Given the description of an element on the screen output the (x, y) to click on. 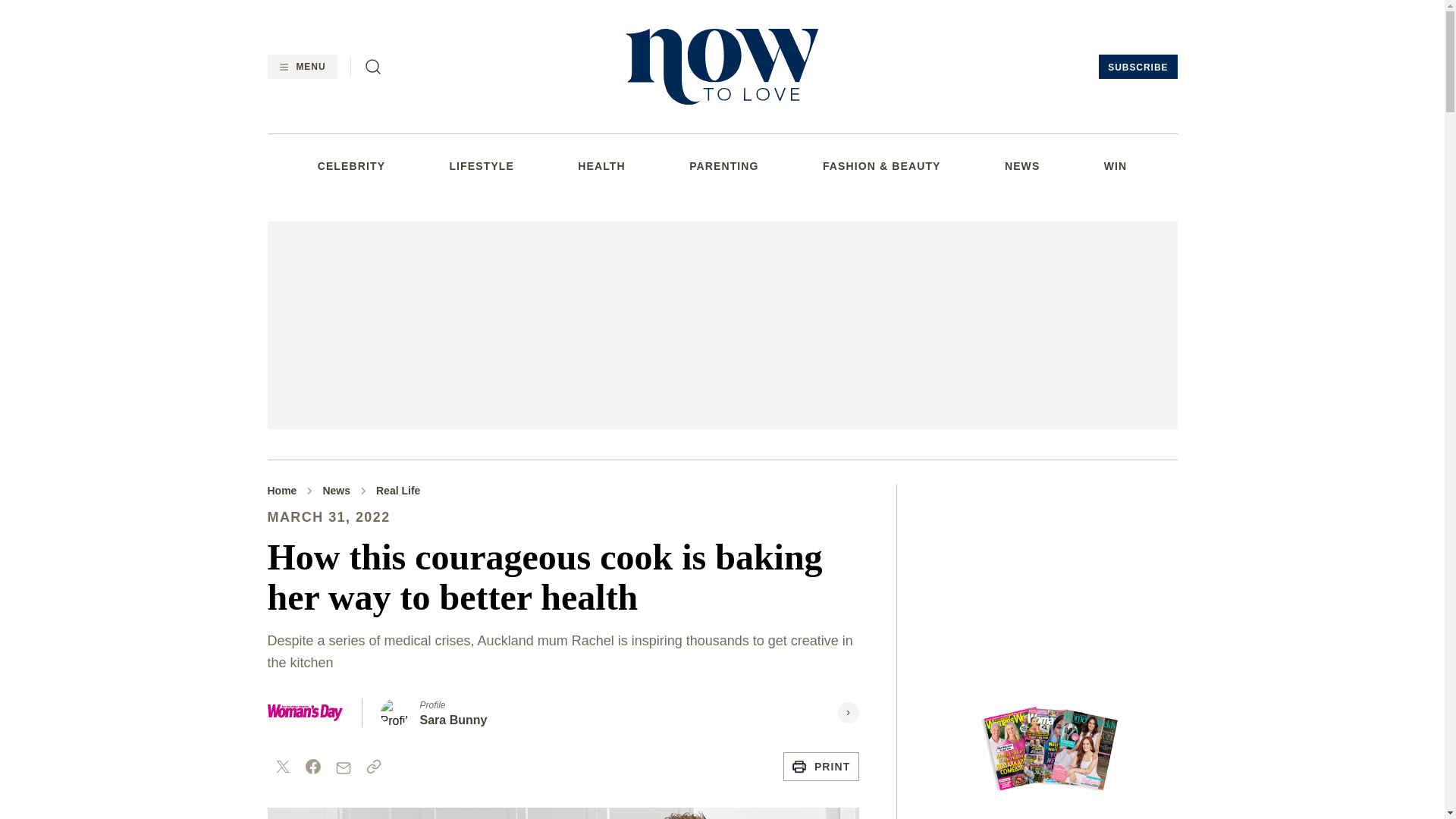
SUBSCRIBE (1137, 66)
MENU (301, 66)
HEALTH (601, 165)
LIFESTYLE (480, 165)
WIN (1114, 165)
PARENTING (723, 165)
CELEBRITY (351, 165)
NEWS (1021, 165)
